Given the description of an element on the screen output the (x, y) to click on. 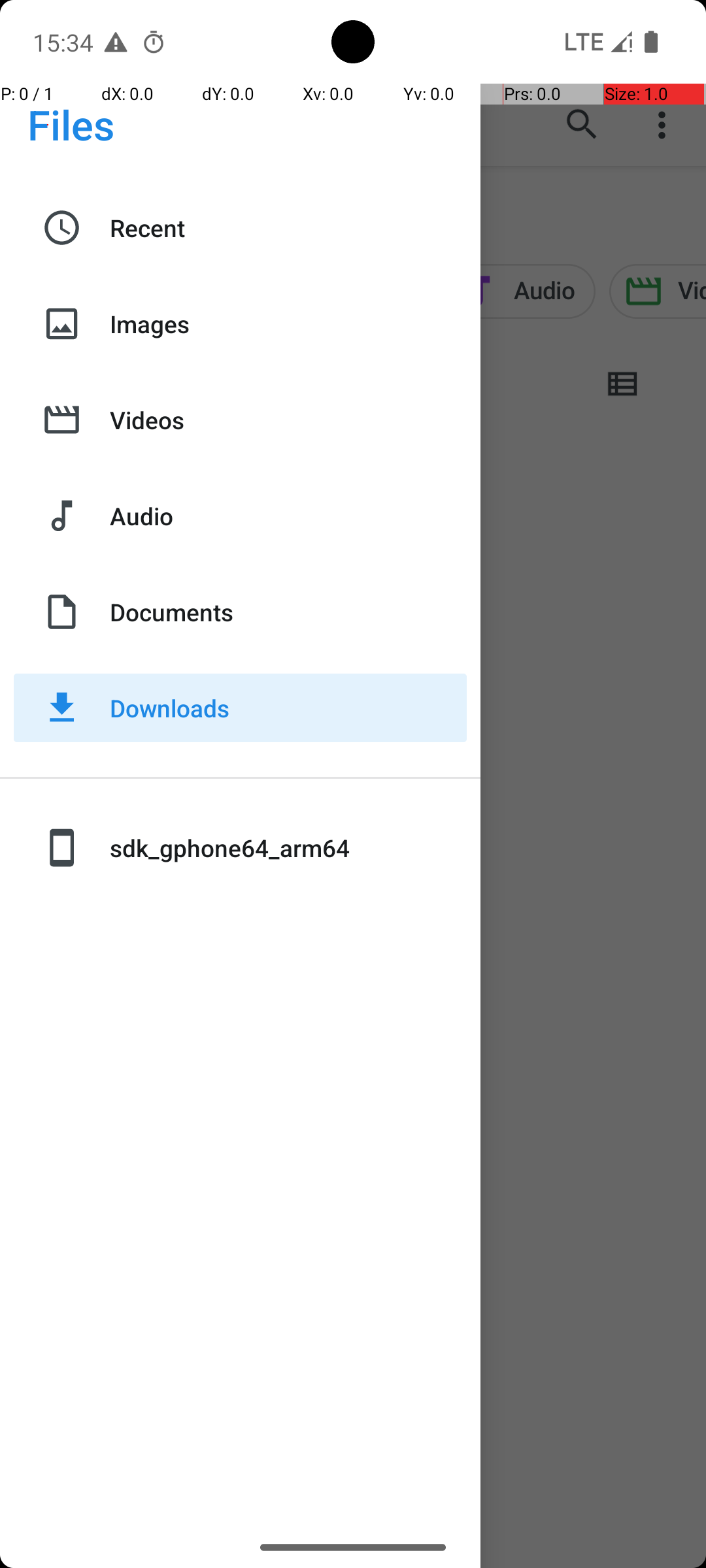
Files Element type: android.widget.TextView (70, 124)
sdk_gphone64_arm64 Element type: android.widget.TextView (287, 847)
